Given the description of an element on the screen output the (x, y) to click on. 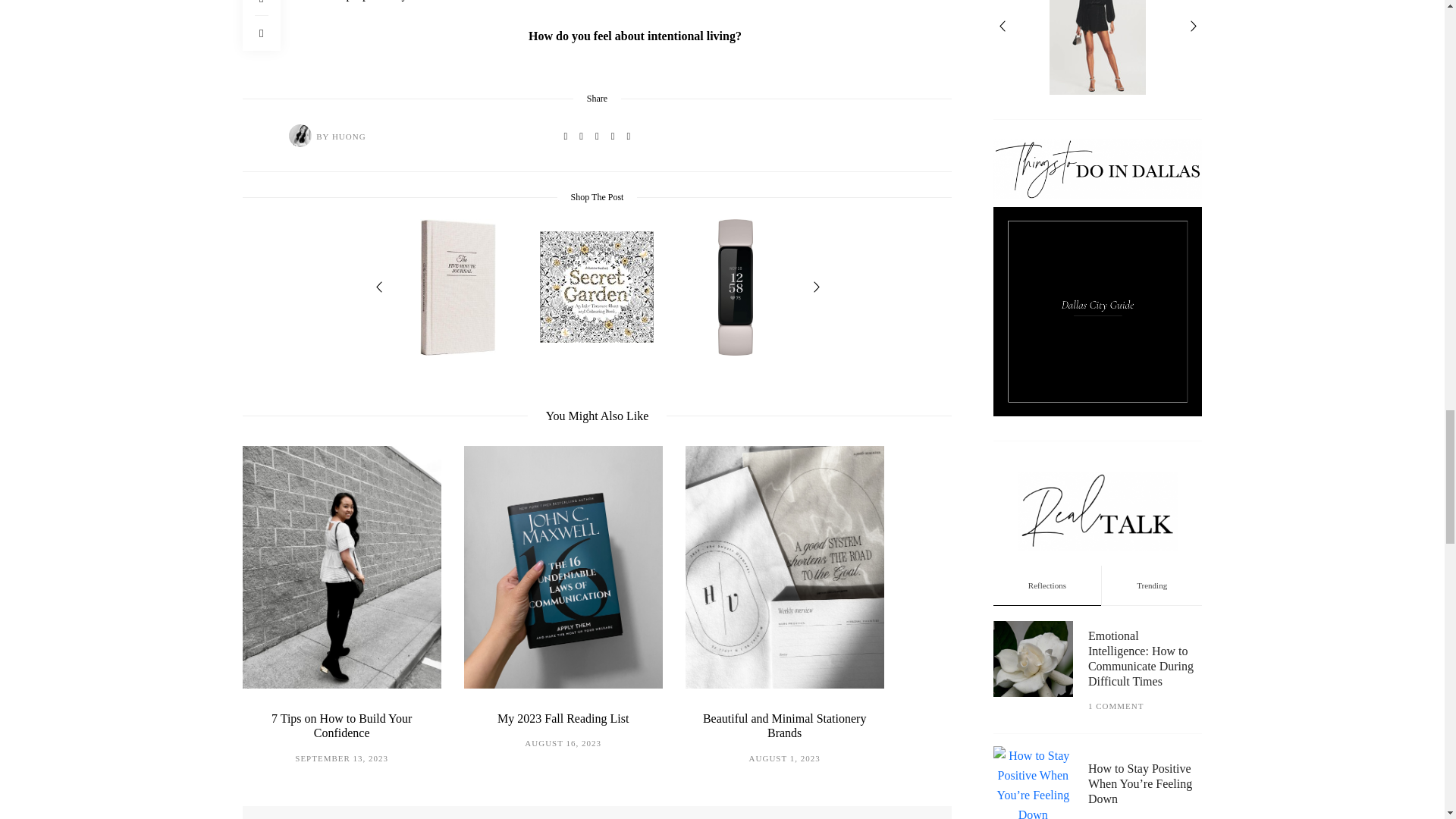
Posts by Huong (300, 135)
Posts by Huong (348, 135)
